Given the description of an element on the screen output the (x, y) to click on. 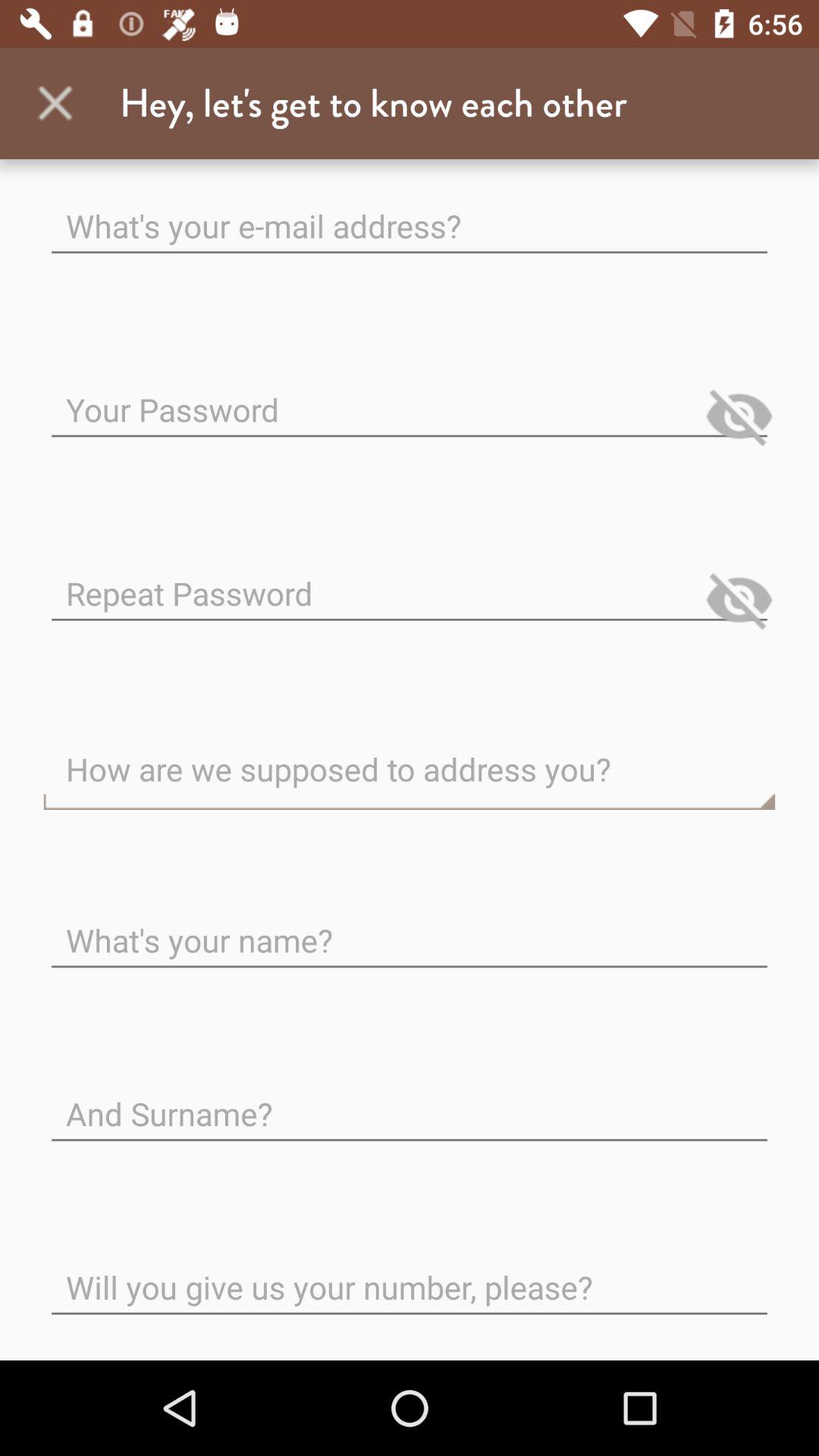
type password (409, 581)
